Given the description of an element on the screen output the (x, y) to click on. 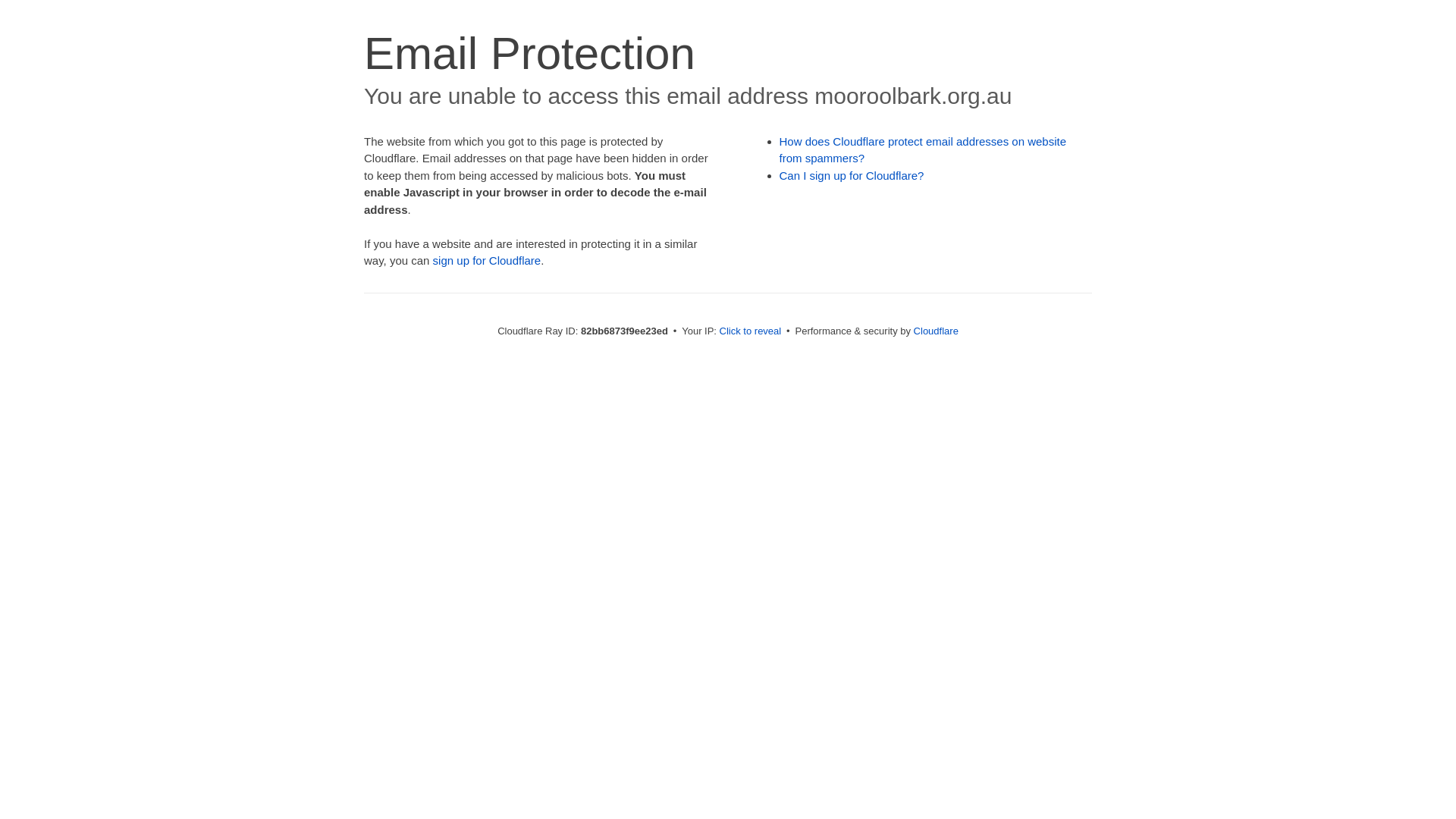
Click to reveal Element type: text (750, 330)
Can I sign up for Cloudflare? Element type: text (851, 175)
sign up for Cloudflare Element type: text (487, 260)
Cloudflare Element type: text (935, 330)
